Given the description of an element on the screen output the (x, y) to click on. 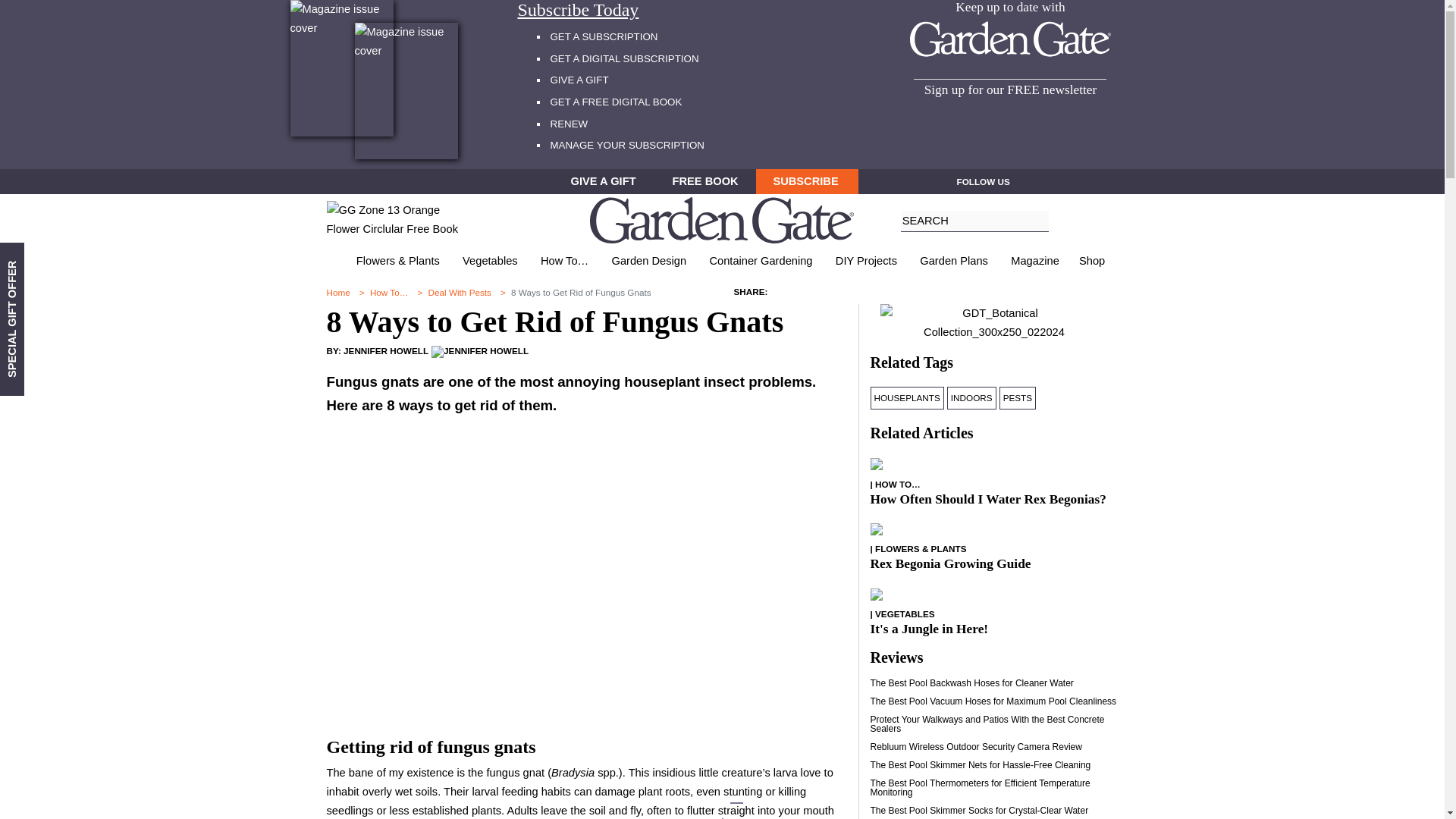
Sign up for our FREE newsletter (1009, 89)
GIVE A GIFT (579, 79)
GG Zone 13 Orange Flower Circlular Free Book (395, 219)
MANAGE YOUR SUBSCRIPTION (627, 144)
RENEW (569, 123)
GET A DIGITAL SUBSCRIPTION (624, 58)
GIVE A GIFT (603, 181)
SUBSCRIBE  (807, 181)
Subscribe Today (649, 10)
